Given the description of an element on the screen output the (x, y) to click on. 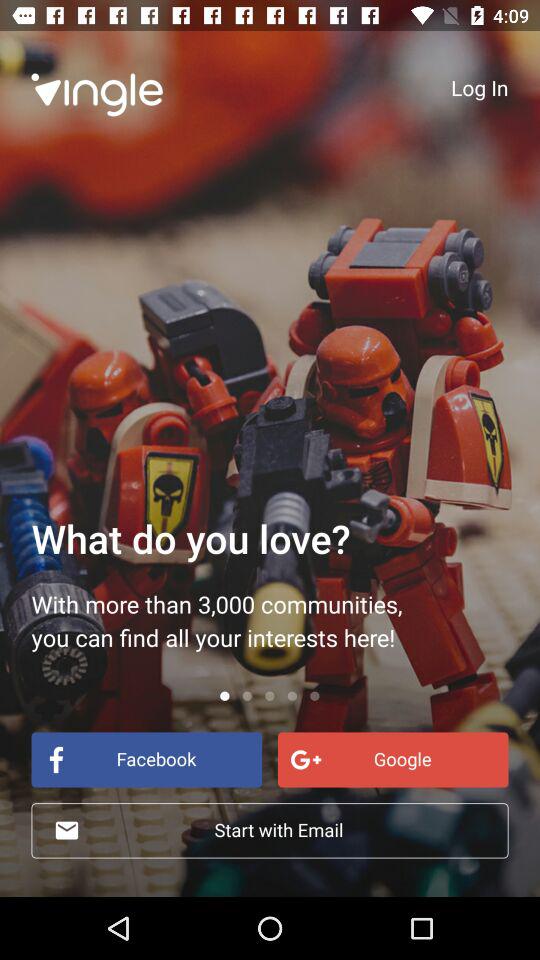
choose the icon at the top right corner (479, 87)
